Given the description of an element on the screen output the (x, y) to click on. 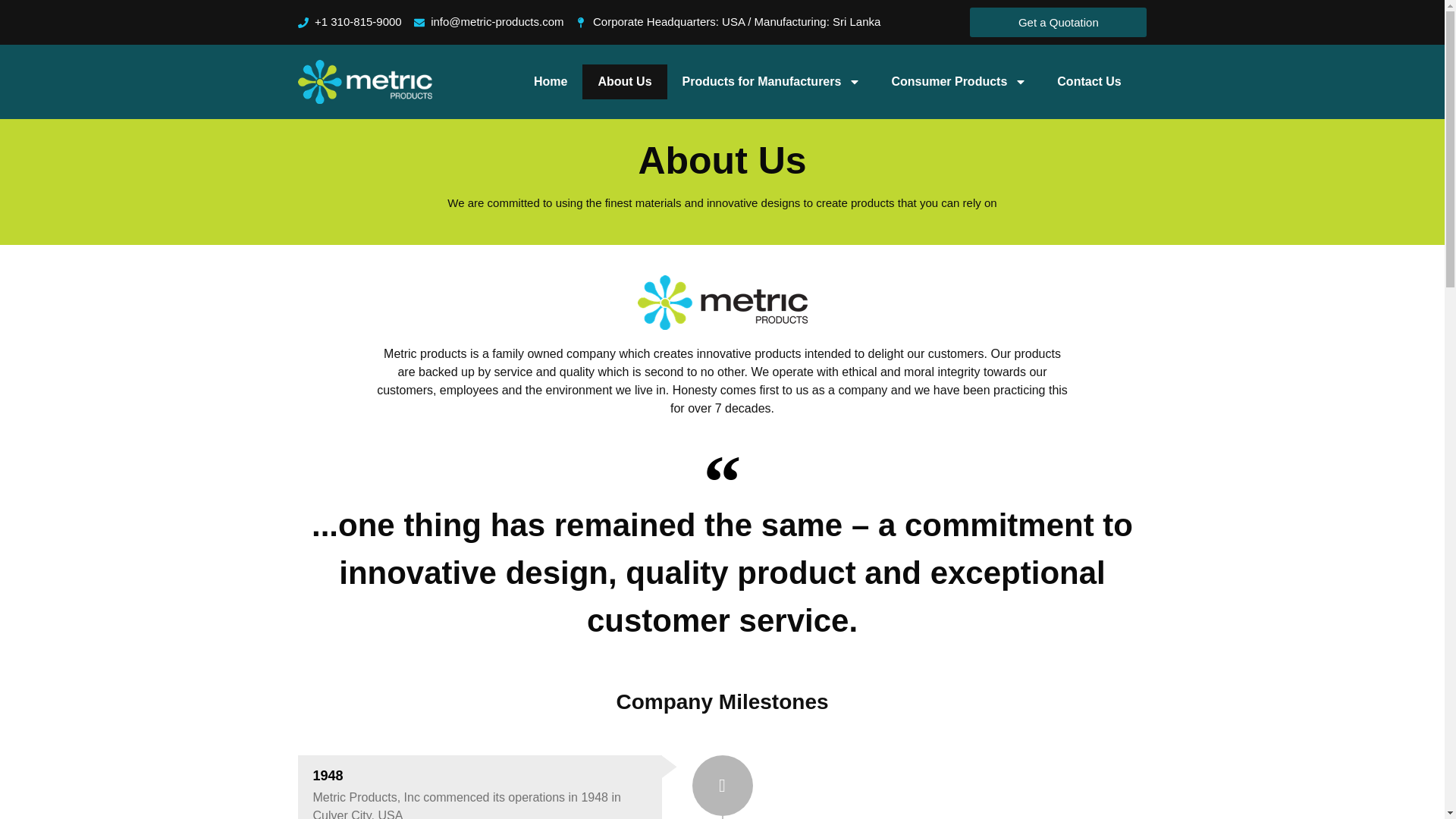
Get a Quotation (1058, 21)
Contact Us (1088, 81)
Consumer Products (959, 81)
Products for Manufacturers (771, 81)
Home (550, 81)
About Us (624, 81)
